Given the description of an element on the screen output the (x, y) to click on. 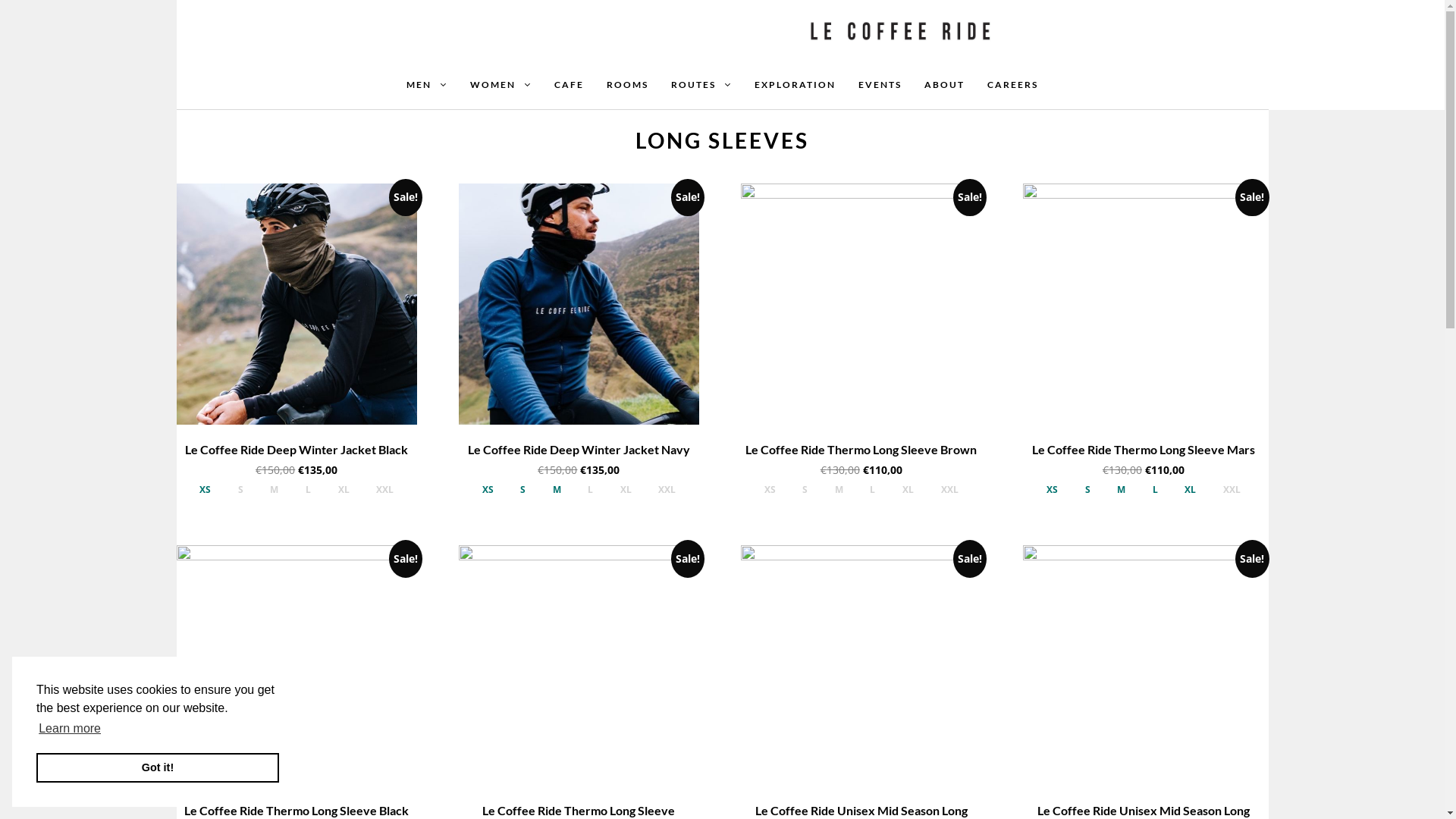
EVENTS Element type: text (880, 84)
MEN Element type: text (426, 84)
CAREERS Element type: text (1012, 84)
ROOMS Element type: text (627, 84)
EXPAND CHILD MENU Element type: text (727, 84)
Got it! Element type: text (157, 767)
Learn more Element type: text (69, 728)
SKIP TO CONTENT Element type: text (27, 16)
ABOUT Element type: text (944, 84)
EXPAND CHILD MENU Element type: text (443, 84)
EXPAND CHILD MENU Element type: text (527, 84)
EXPLORATION Element type: text (795, 84)
CAFE Element type: text (568, 84)
WOMEN Element type: text (500, 84)
ROUTES Element type: text (701, 84)
